Given the description of an element on the screen output the (x, y) to click on. 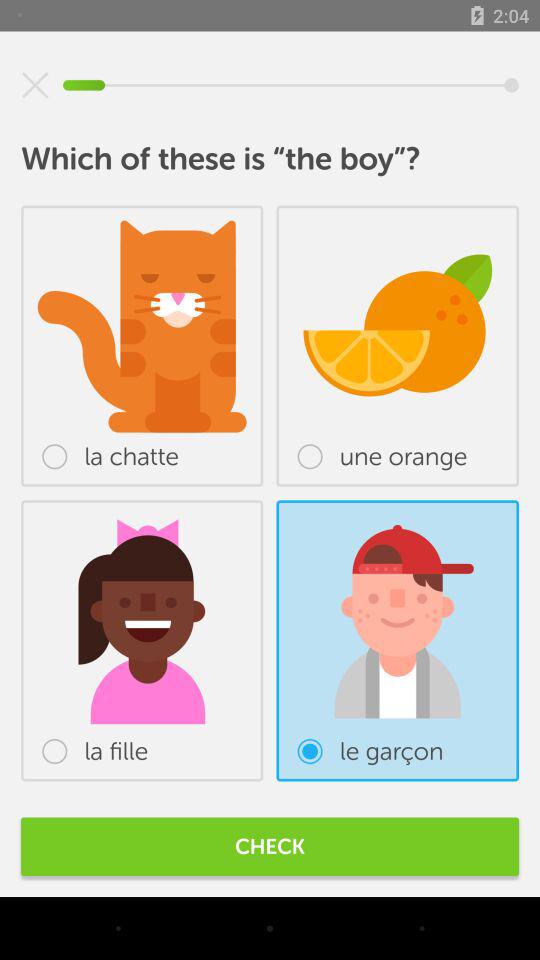
click check item (270, 846)
